Given the description of an element on the screen output the (x, y) to click on. 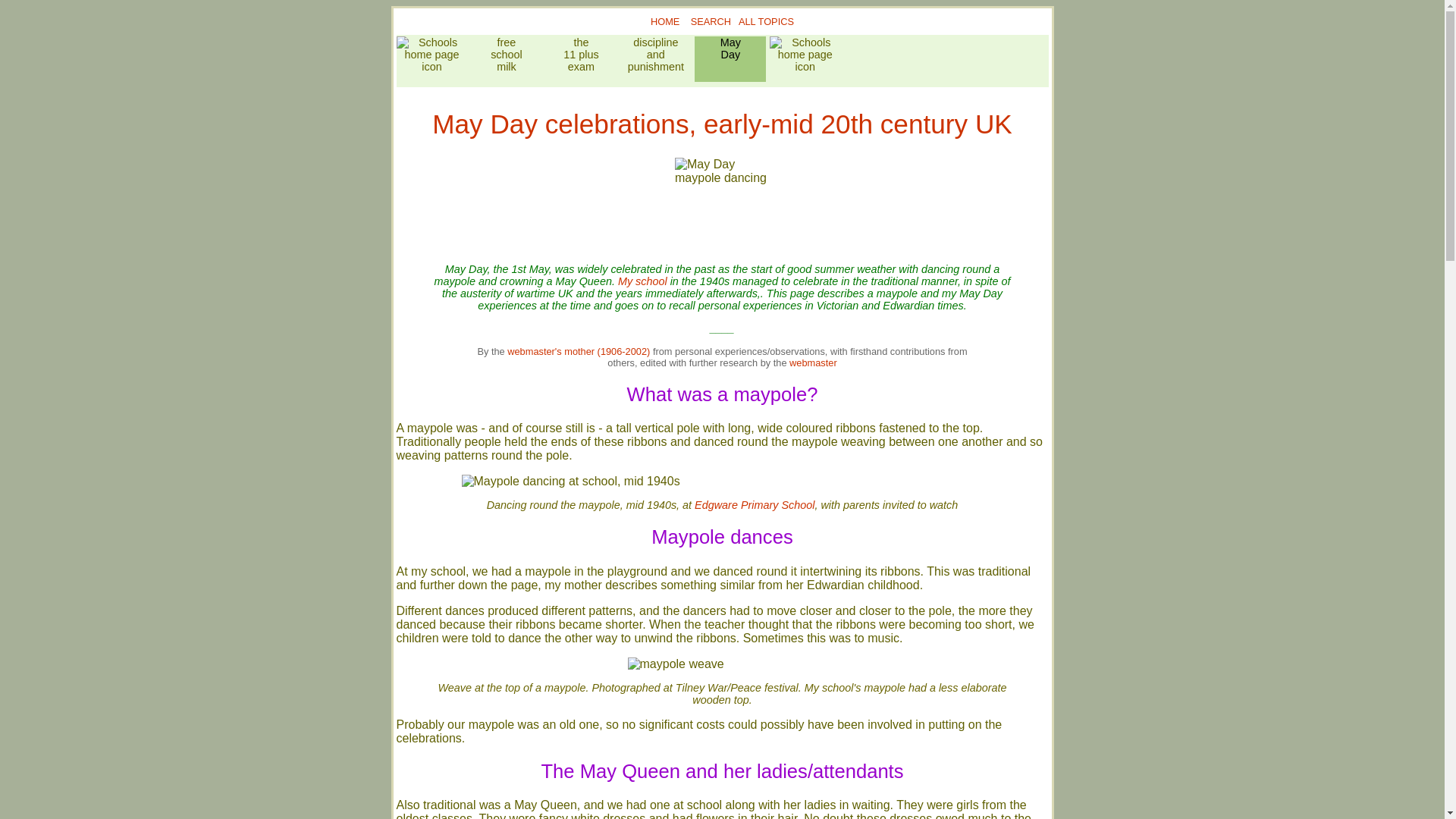
HOME (579, 58)
SEARCH (664, 21)
ALL TOPICS (710, 21)
My school (765, 21)
Edgware Primary School (505, 58)
webmaster (641, 281)
